Given the description of an element on the screen output the (x, y) to click on. 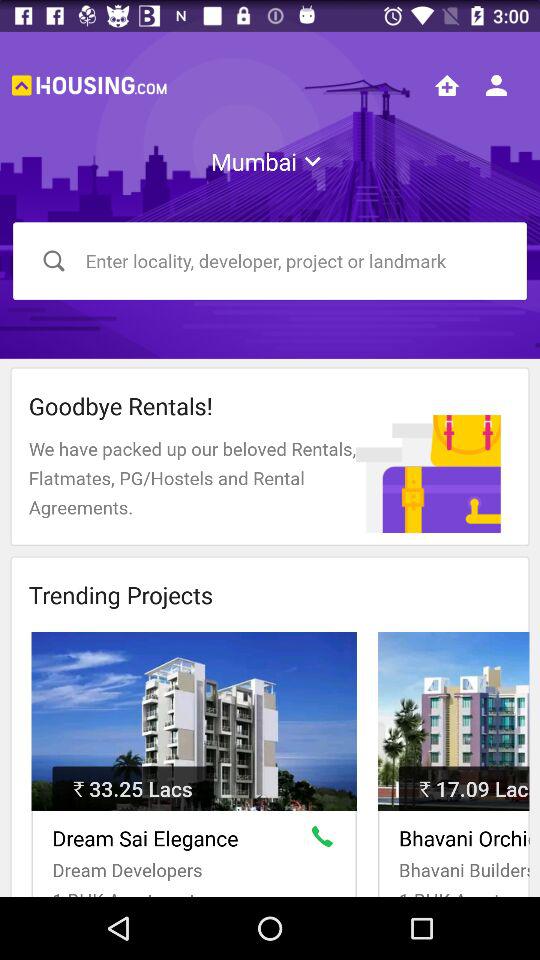
open my account (496, 85)
